Given the description of an element on the screen output the (x, y) to click on. 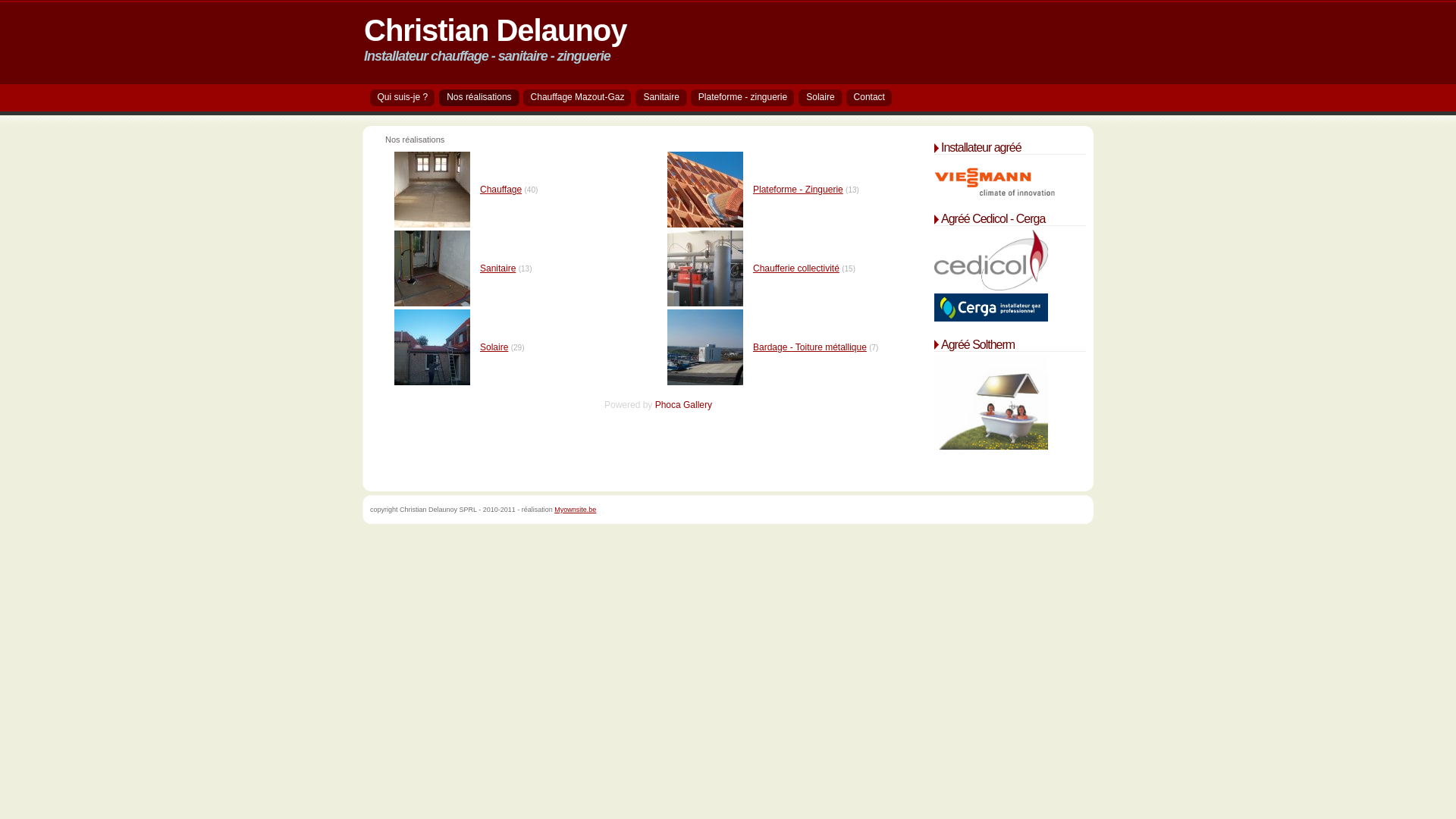
Chauffage Mazout-Gaz Element type: text (581, 97)
Myownsite.be Element type: text (575, 509)
Sanitaire Element type: text (664, 97)
Solaire Element type: text (494, 347)
Gallery Element type: text (697, 404)
Phoca Element type: text (667, 404)
Plateforme - Zinguerie Element type: text (798, 189)
Plateforme - zinguerie Element type: text (746, 97)
agree logo cedicol Element type: hover (991, 259)
logo cerga Element type: hover (991, 307)
Sanitaire Element type: text (497, 268)
Christian Delaunoy Element type: text (495, 24)
Qui suis-je ? Element type: text (406, 97)
logo soltherm Element type: hover (991, 402)
Chauffage Element type: text (500, 189)
installateur viessmann agree Element type: hover (994, 176)
Contact Element type: text (872, 97)
Solaire Element type: text (823, 97)
